Given the description of an element on the screen output the (x, y) to click on. 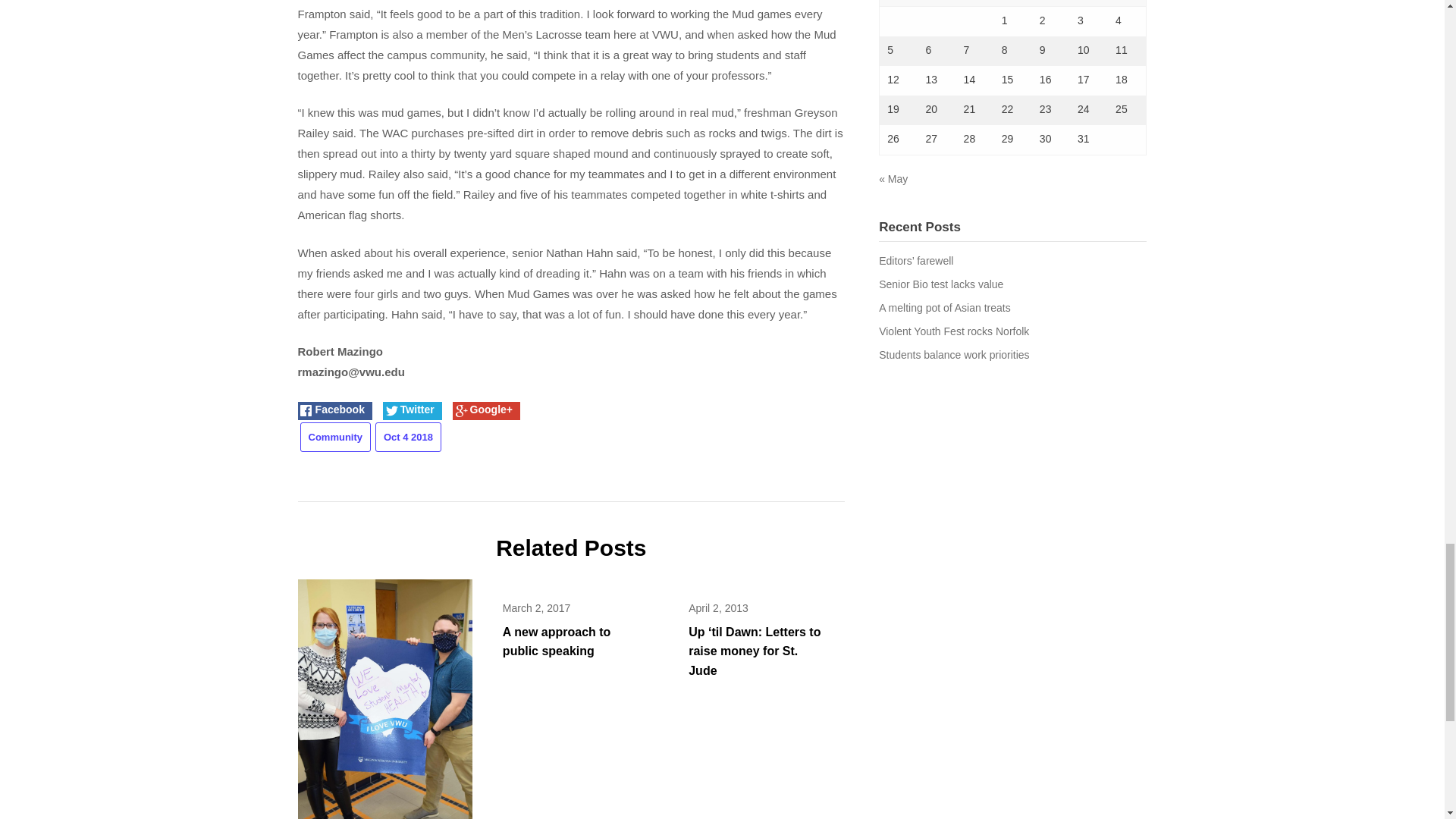
Thursday (1013, 2)
Share link on Twitter (412, 411)
Community (335, 437)
Saturday (1089, 2)
A new approach to public speaking (556, 641)
Sunday (1127, 2)
Wednesday (975, 2)
Counseling Center expands to include eight counselors (384, 705)
Students balance work priorities (954, 354)
Share link on Facebook (334, 411)
